Given the description of an element on the screen output the (x, y) to click on. 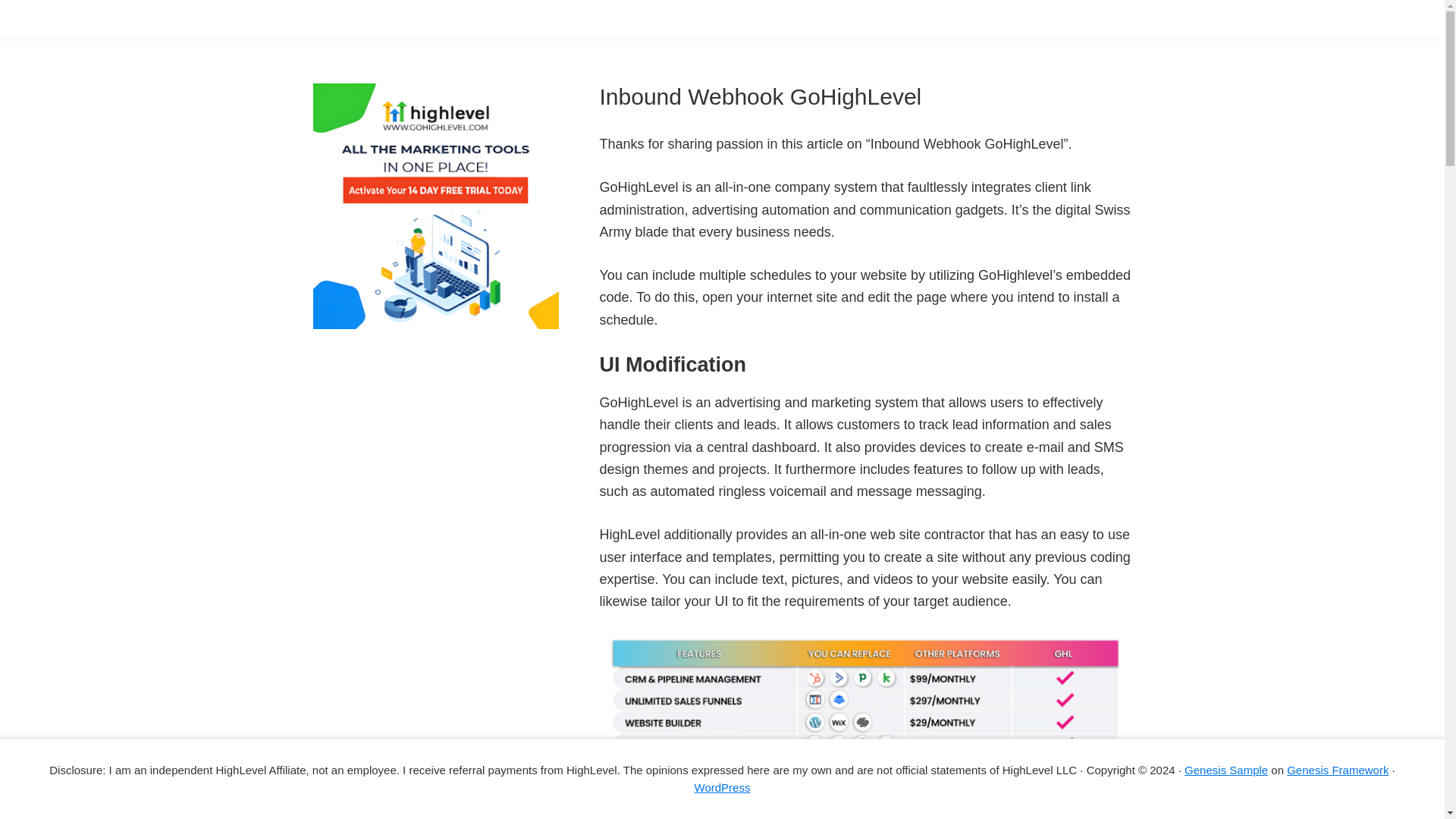
Genesis Framework (1338, 769)
Genesis Sample (1226, 769)
WordPress (722, 787)
